Given the description of an element on the screen output the (x, y) to click on. 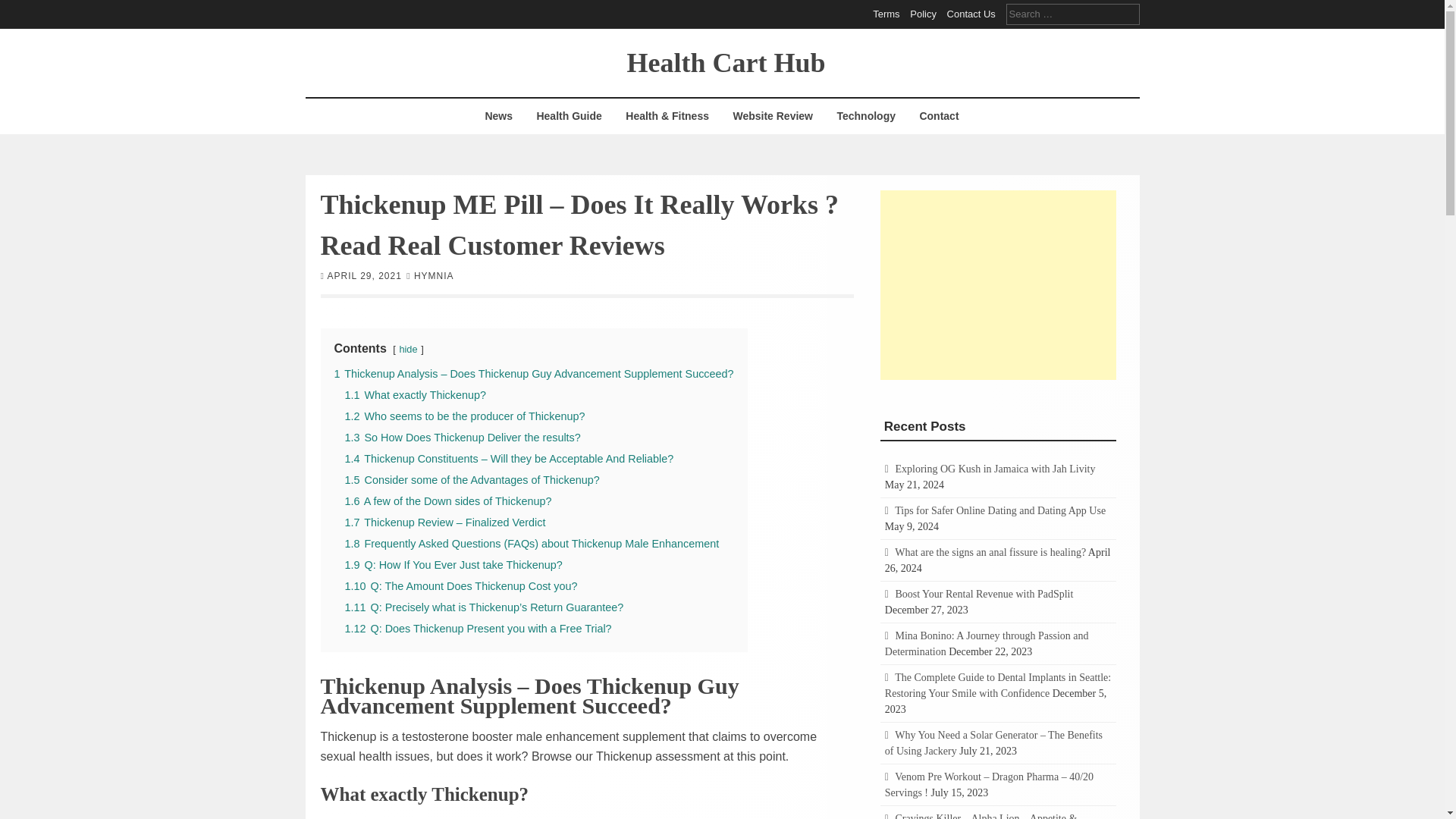
1.2 Who seems to be the producer of Thickenup? (464, 415)
Policy (923, 13)
Contact Us (971, 13)
Website Review (772, 116)
1.10 Q: The Amount Does Thickenup Cost you? (459, 585)
APRIL 29, 2021 (364, 275)
hide (407, 348)
Search (23, 9)
1.9 Q: How If You Ever Just take Thickenup? (452, 563)
1.6 A few of the Down sides of Thickenup? (447, 500)
1.3 So How Does Thickenup Deliver the results? (461, 436)
Technology (866, 116)
HYMNIA (433, 275)
News (498, 116)
1.5 Consider some of the Advantages of Thickenup? (470, 479)
